Given the description of an element on the screen output the (x, y) to click on. 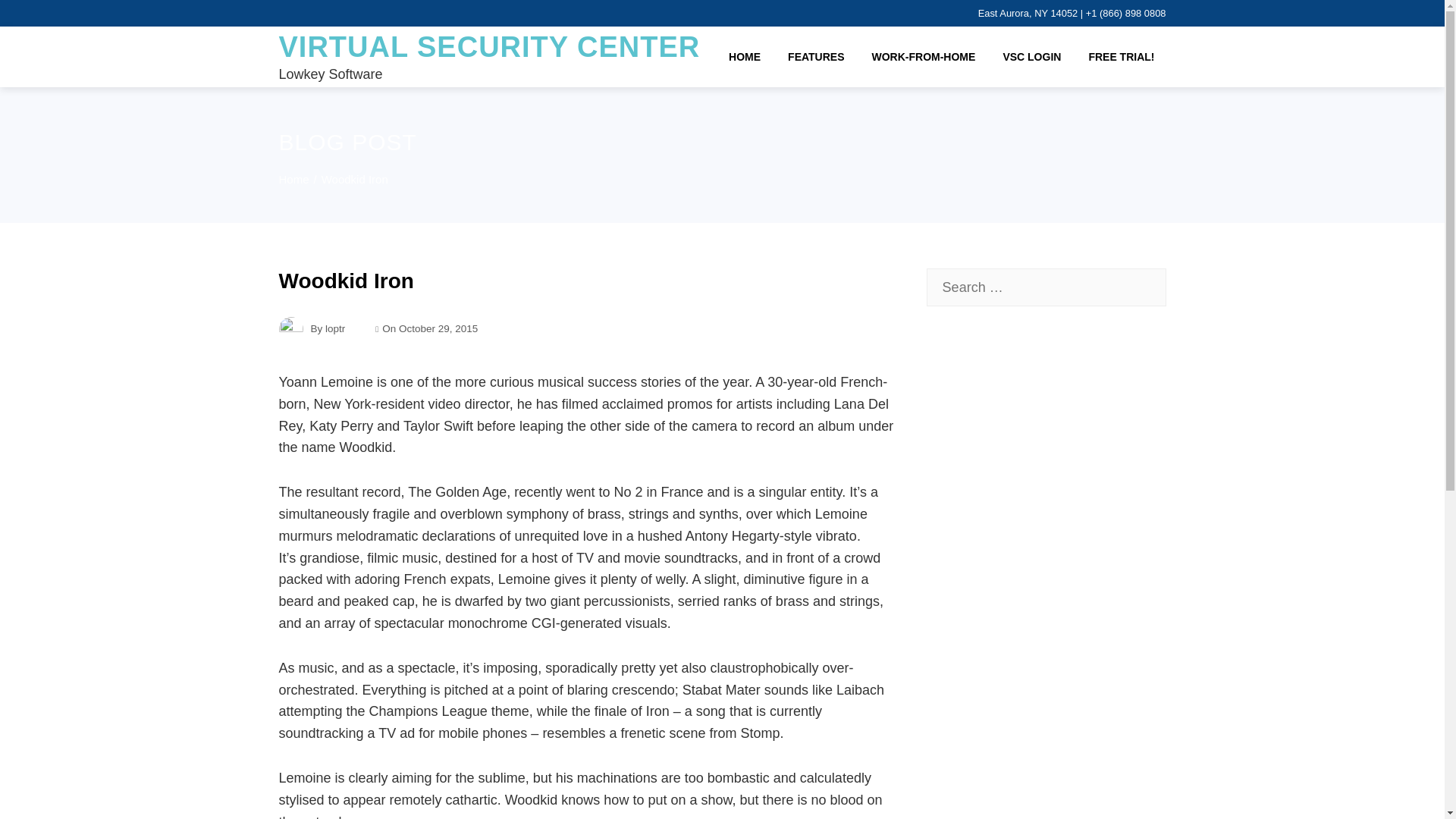
Lowkey Software (330, 73)
WORK-FROM-HOME (923, 56)
Search (40, 18)
Home (293, 178)
VIRTUAL SECURITY CENTER (489, 47)
FREE TRIAL! (1121, 56)
VSC LOGIN (1031, 56)
HOME (744, 56)
FEATURES (816, 56)
